Given the description of an element on the screen output the (x, y) to click on. 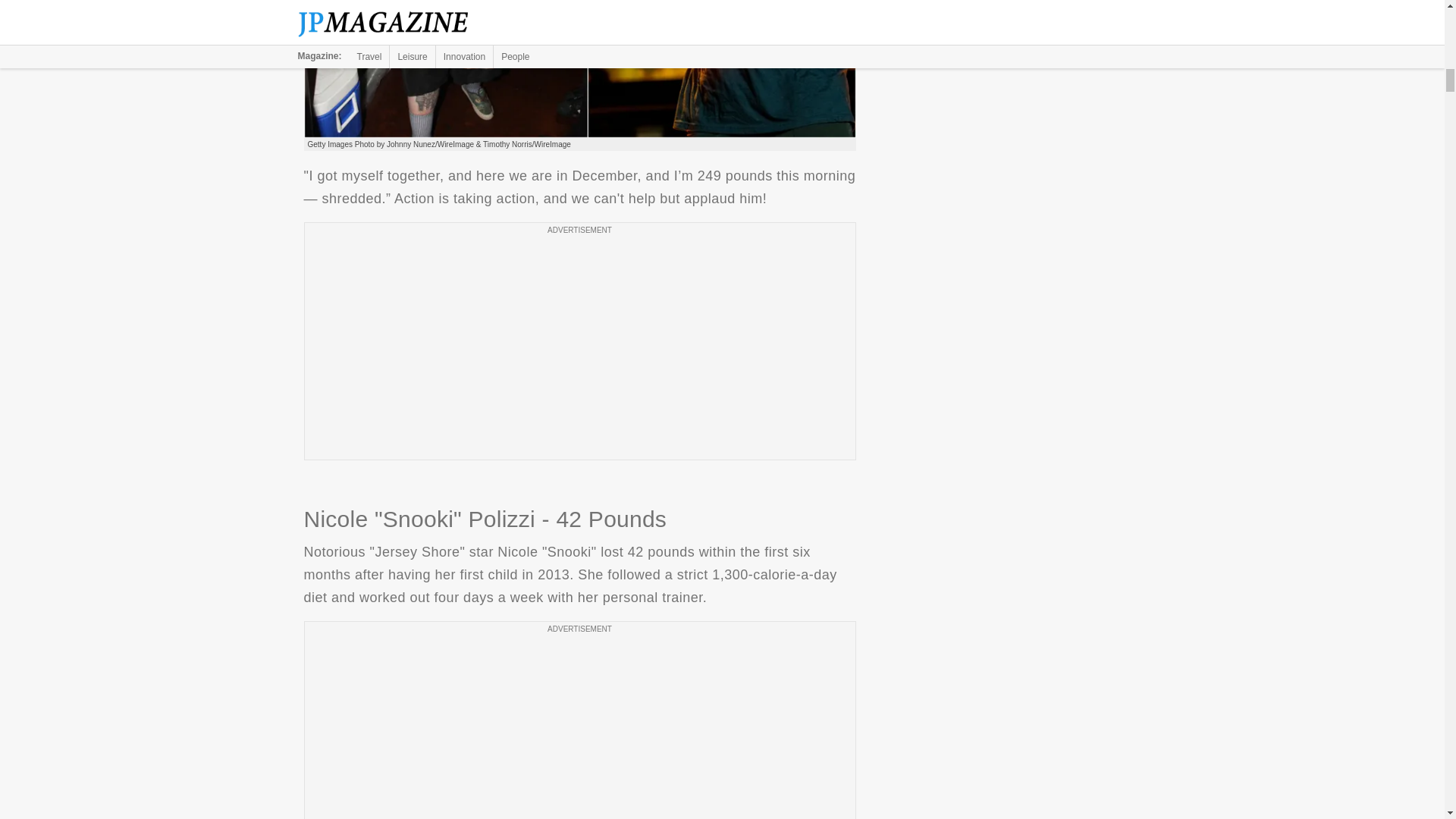
Action Bronson - 127 Pounds (579, 69)
